Given the description of an element on the screen output the (x, y) to click on. 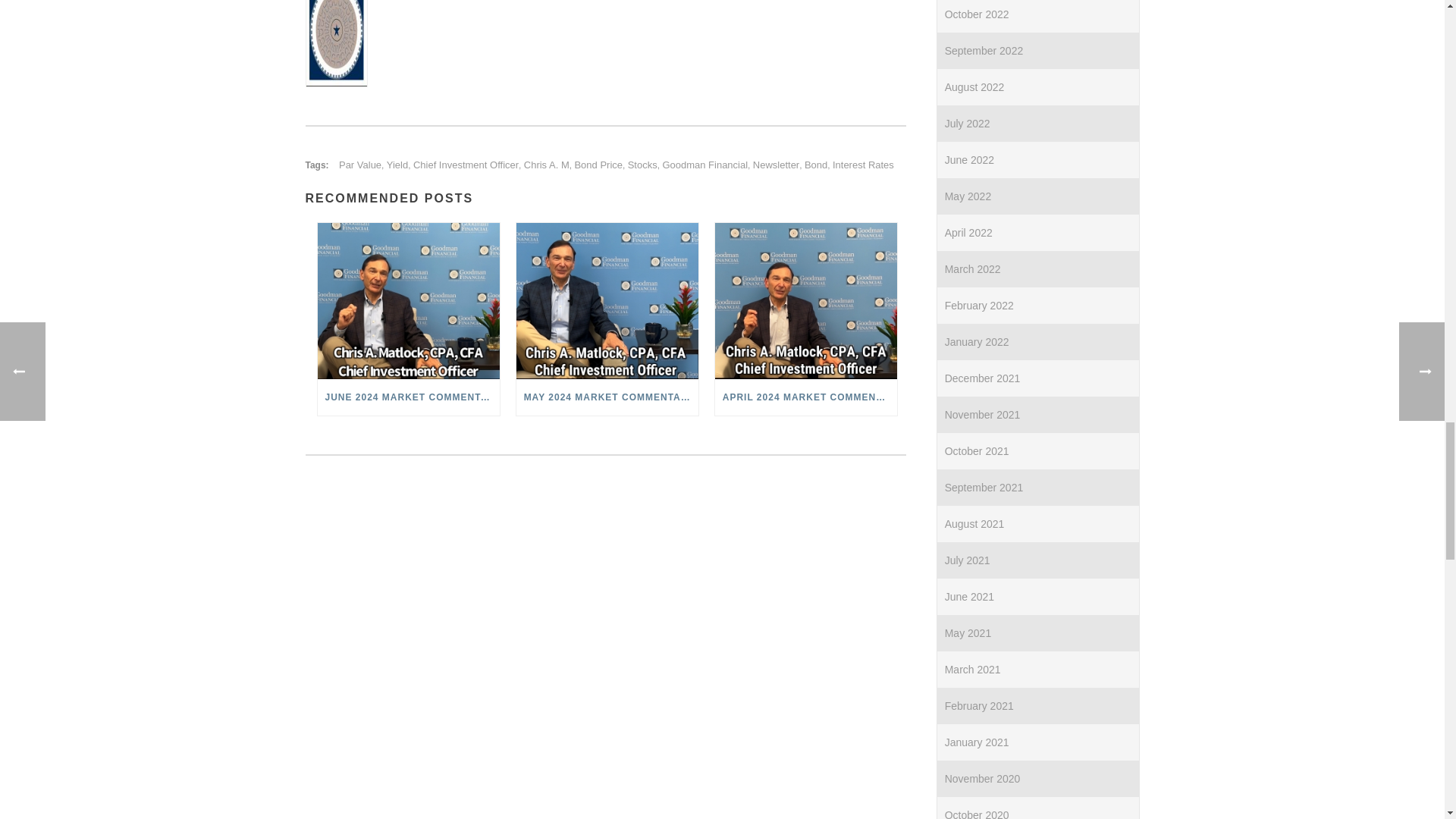
June 2024 Market Commentary (408, 300)
May 2024 Market Commentary (607, 300)
April 2024 Market Commentary (805, 300)
